Given the description of an element on the screen output the (x, y) to click on. 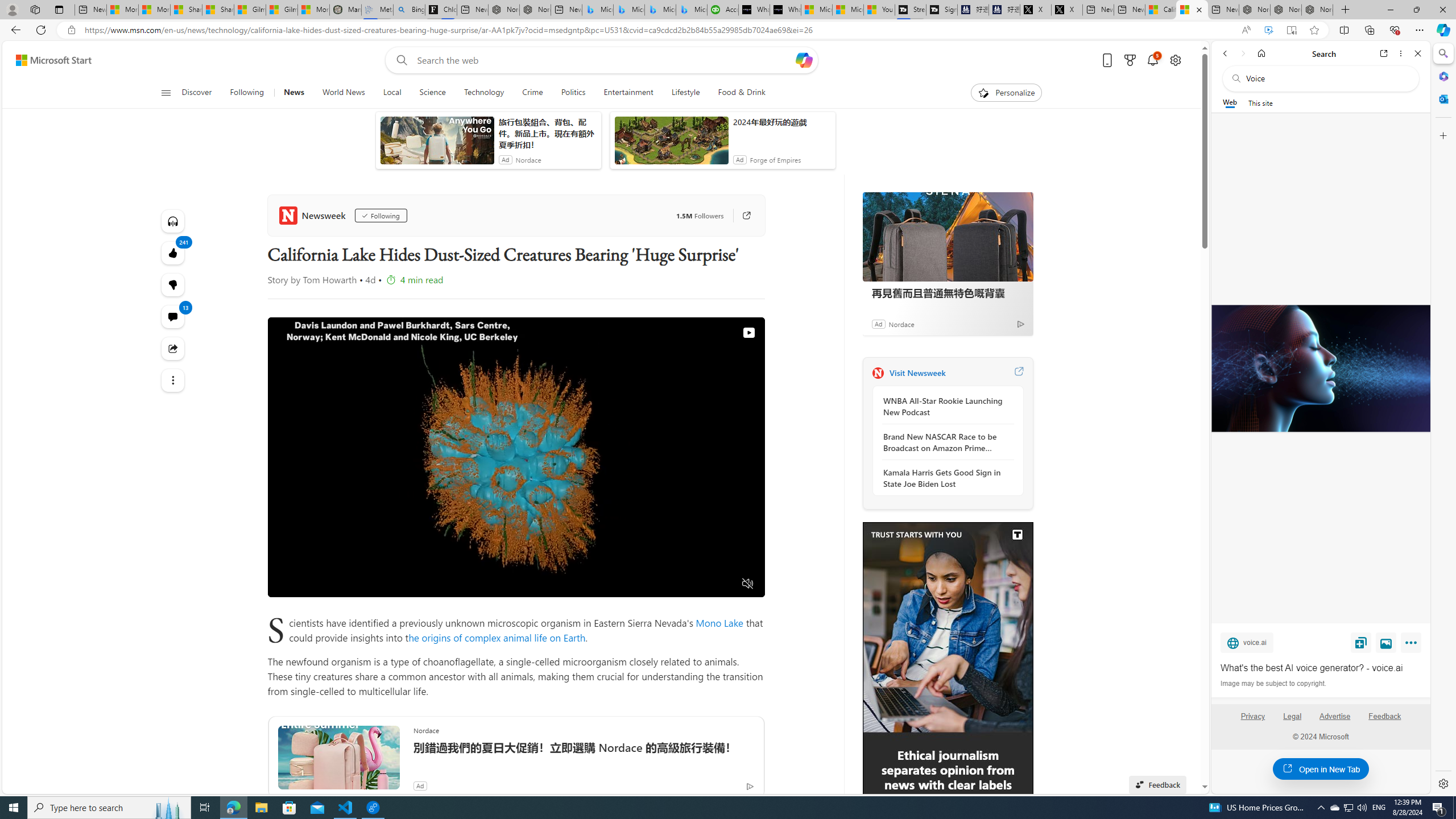
See more (172, 380)
Listen to this article (172, 221)
Lifestyle (685, 92)
Kamala Harris Gets Good Sign in State Joe Biden Lost (944, 477)
Split screen (1344, 29)
Go to publisher's site (746, 215)
Microsoft Start (847, 9)
Unmute (746, 583)
Enter Immersive Reader (F9) (1291, 29)
Side bar (1443, 418)
Microsoft Bing Travel - Stays in Bangkok, Bangkok, Thailand (628, 9)
Food & Drink (737, 92)
Back (1225, 53)
